Given the description of an element on the screen output the (x, y) to click on. 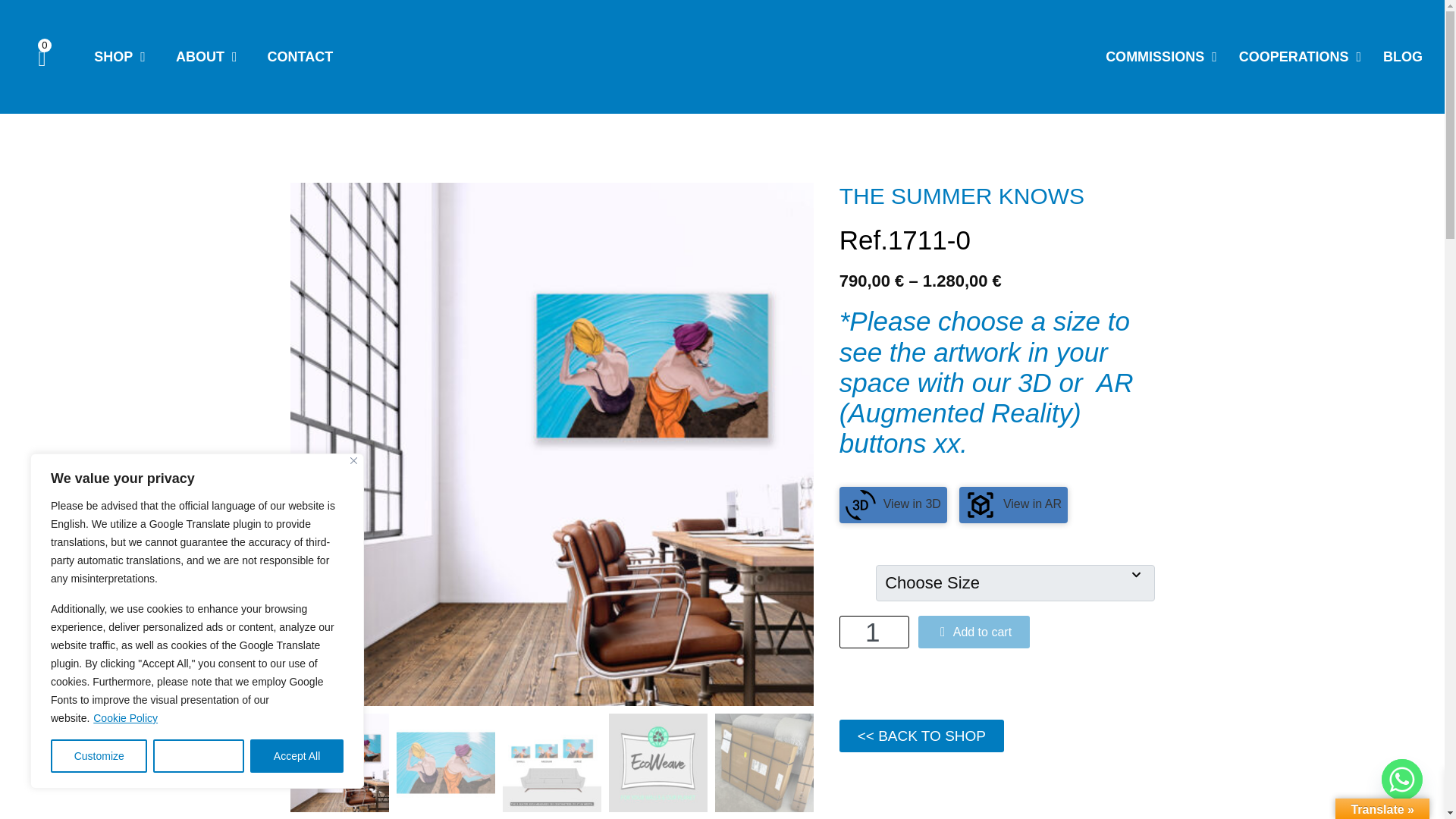
1 (872, 631)
SHOP (118, 56)
Accept All (296, 756)
Cookie Policy (125, 717)
Reject All (198, 756)
ABOUT (206, 56)
COMMISSIONS (1160, 56)
CONTACT (299, 56)
Customize (98, 756)
